Given the description of an element on the screen output the (x, y) to click on. 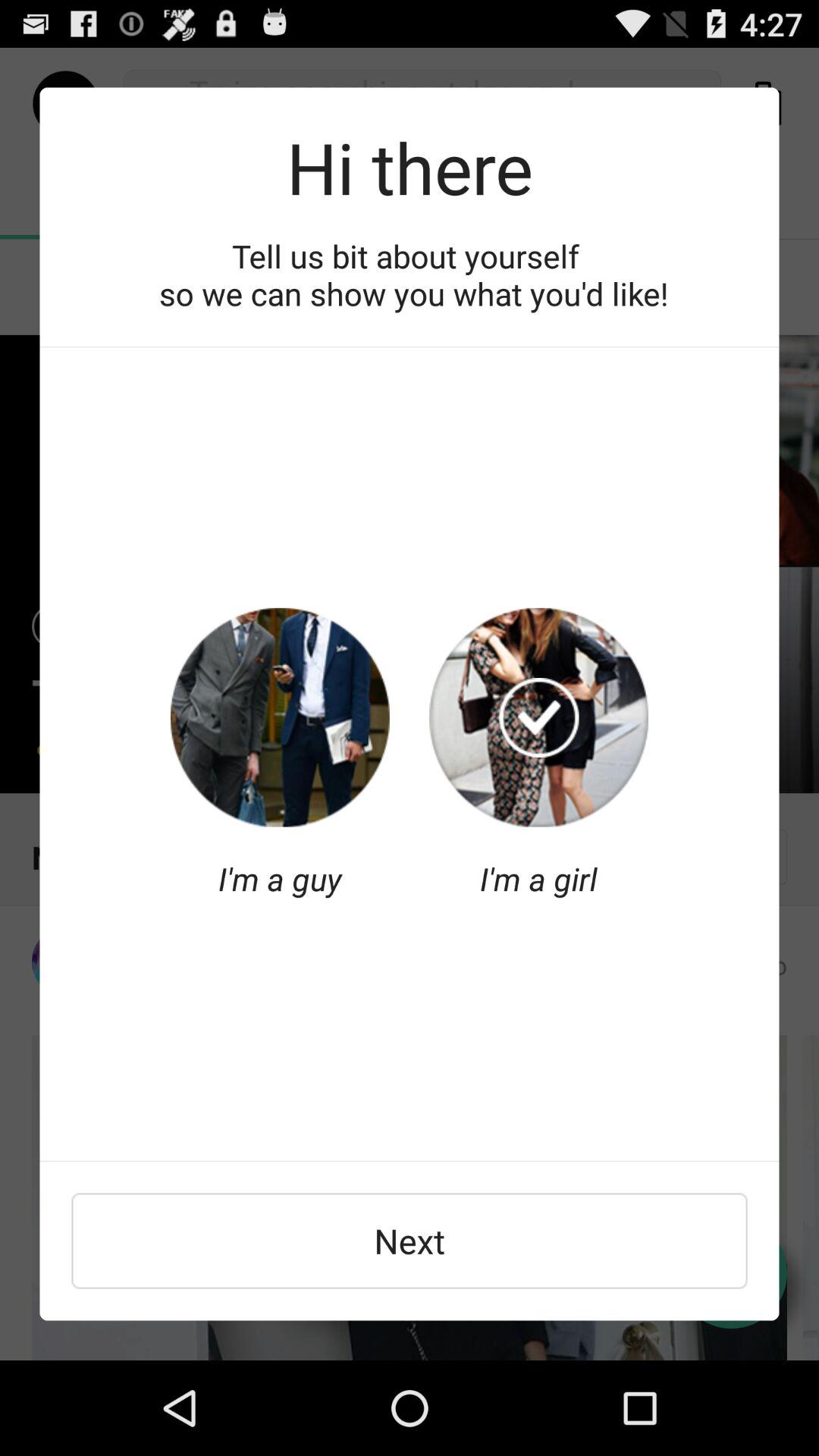
gender selection (538, 716)
